Given the description of an element on the screen output the (x, y) to click on. 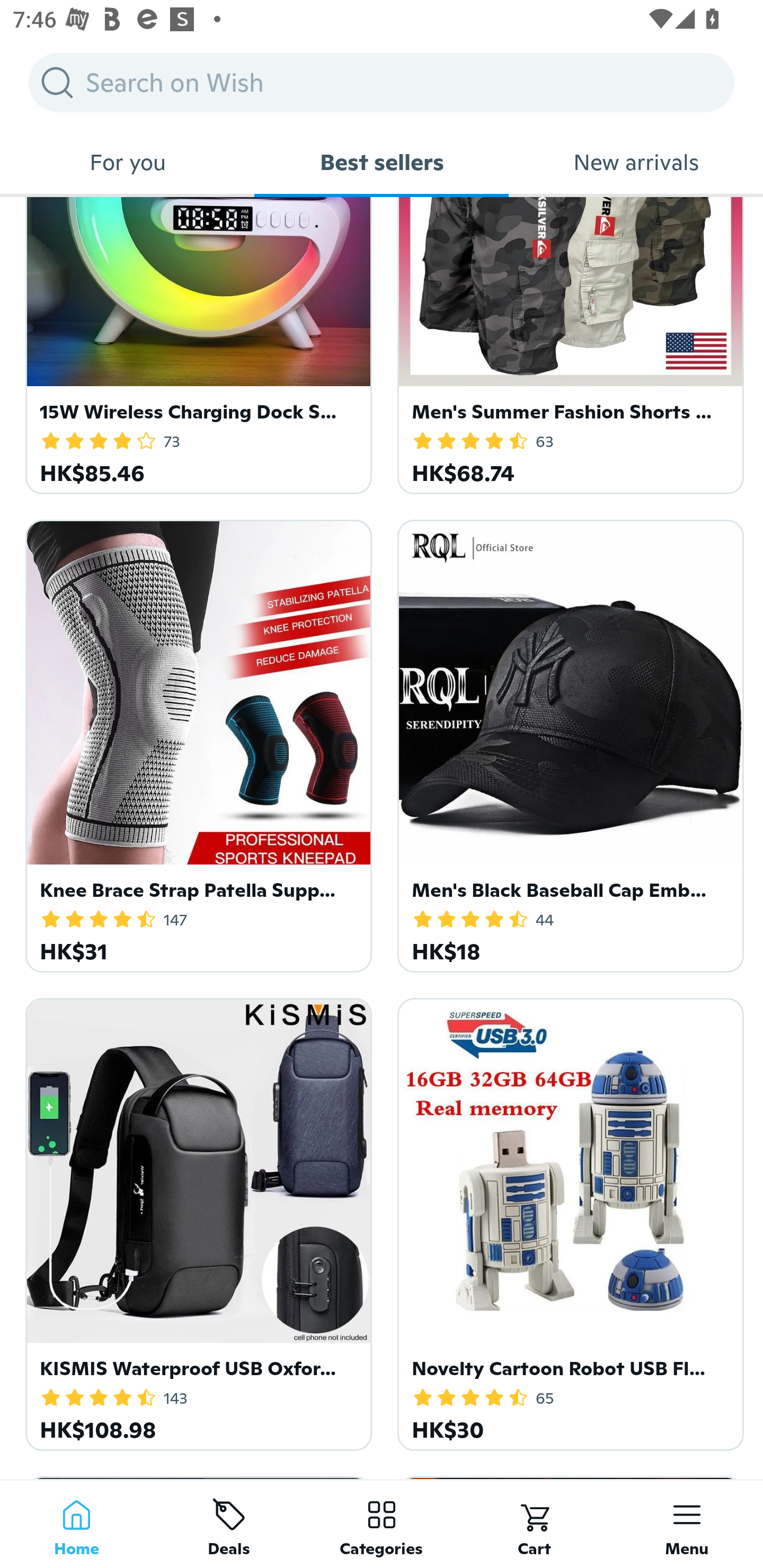
Search on Wish (381, 82)
For you (127, 161)
Best sellers (381, 161)
New arrivals (635, 161)
Home (76, 1523)
Deals (228, 1523)
Categories (381, 1523)
Cart (533, 1523)
Menu (686, 1523)
